Given the description of an element on the screen output the (x, y) to click on. 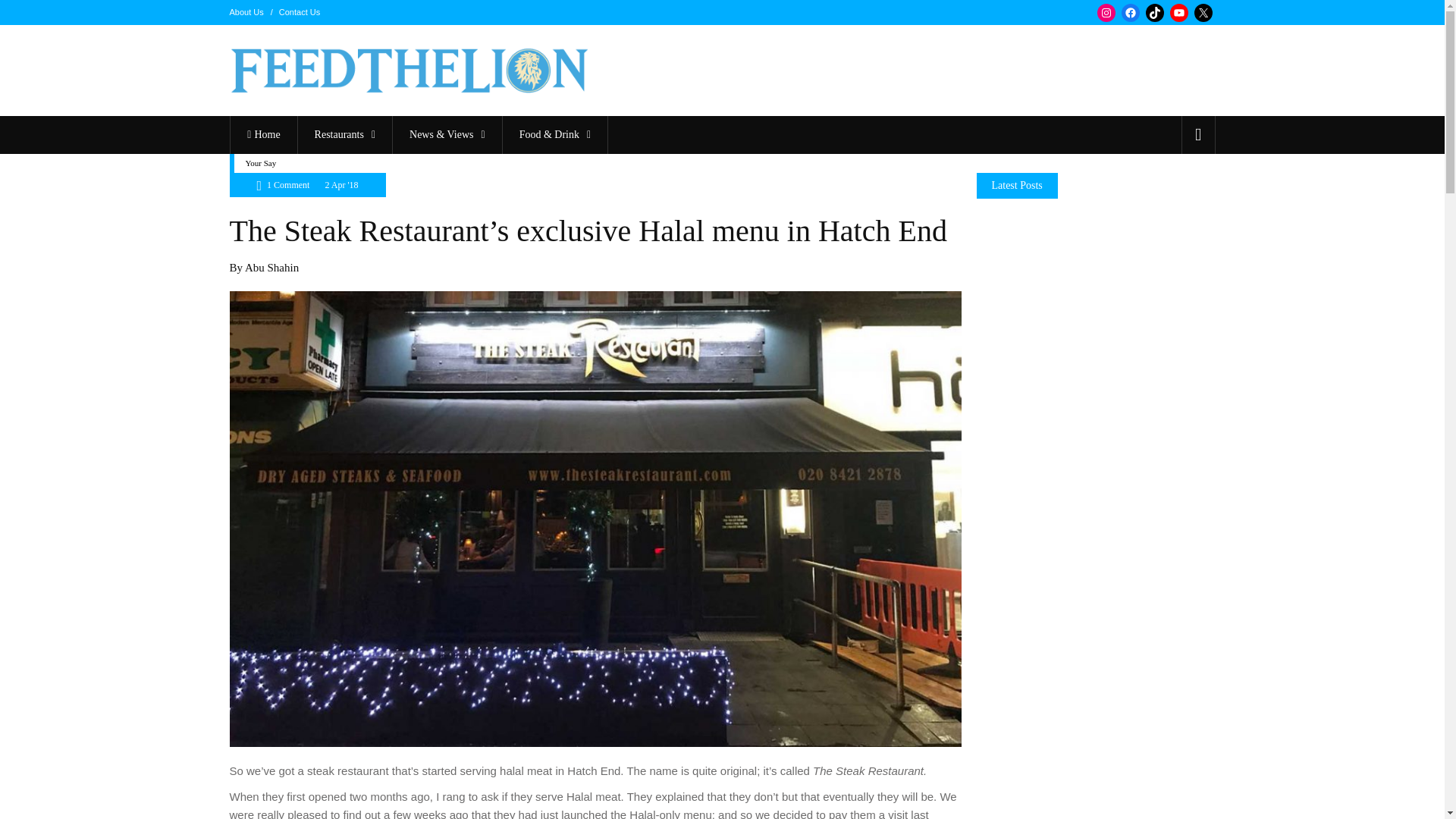
X (1202, 13)
About Us (245, 11)
Facebook (1129, 13)
YouTube (1178, 13)
Contact Us (299, 11)
Home (263, 134)
TikTok (1153, 13)
Restaurants (344, 134)
Instagram (1105, 13)
